Given the description of an element on the screen output the (x, y) to click on. 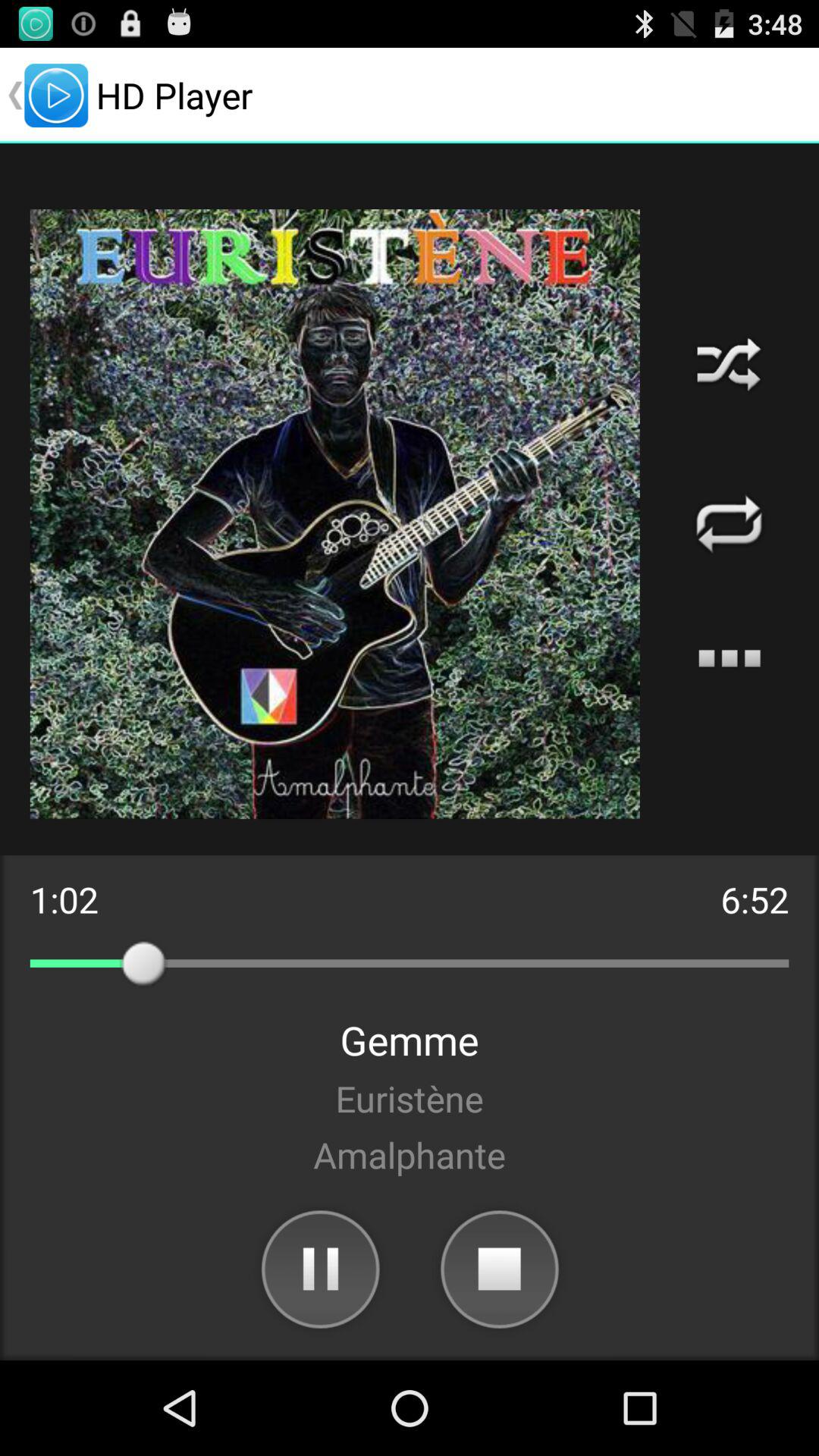
press the icon above the 6:52 app (729, 658)
